Given the description of an element on the screen output the (x, y) to click on. 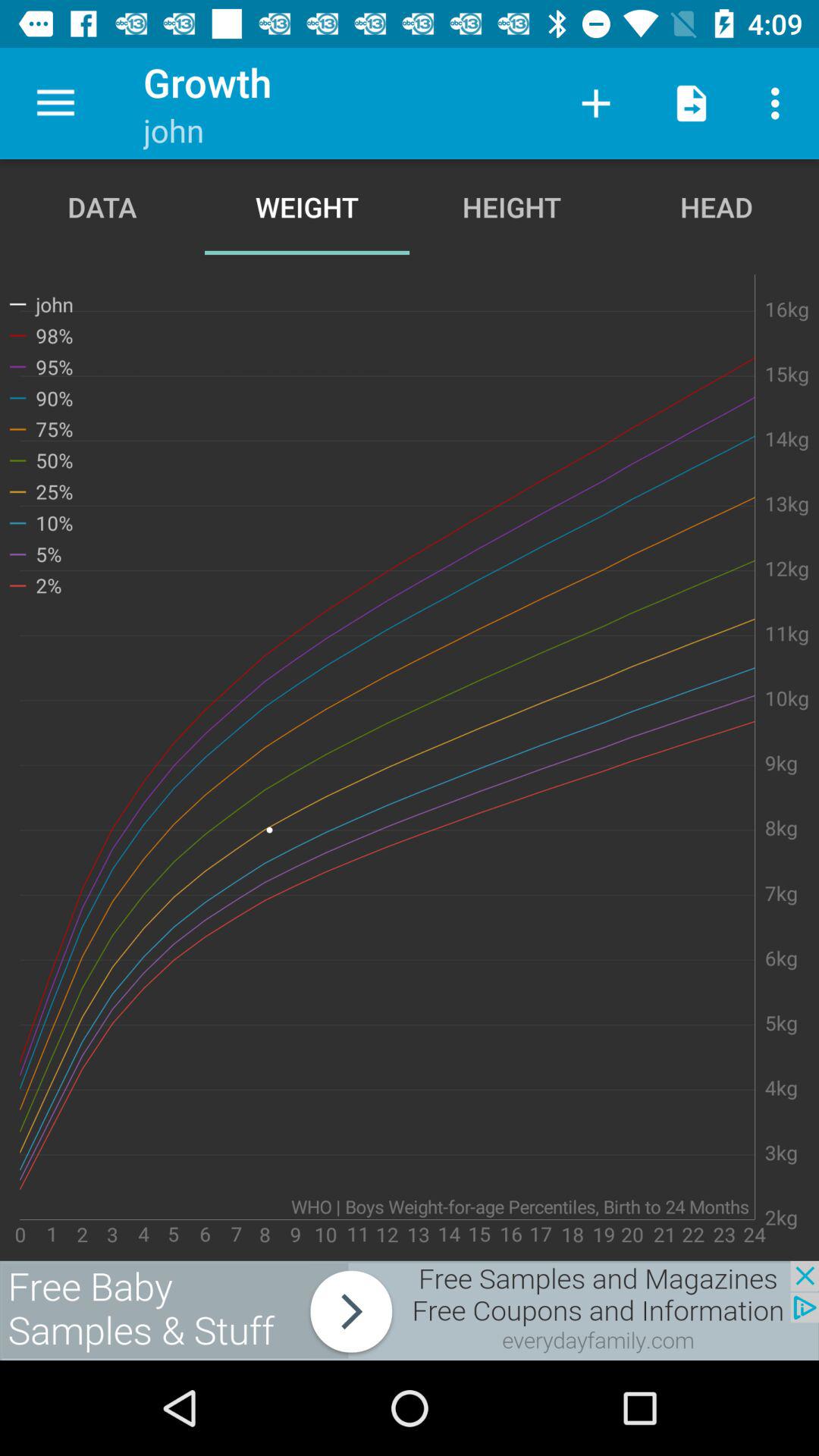
select advertisement (409, 1310)
